Given the description of an element on the screen output the (x, y) to click on. 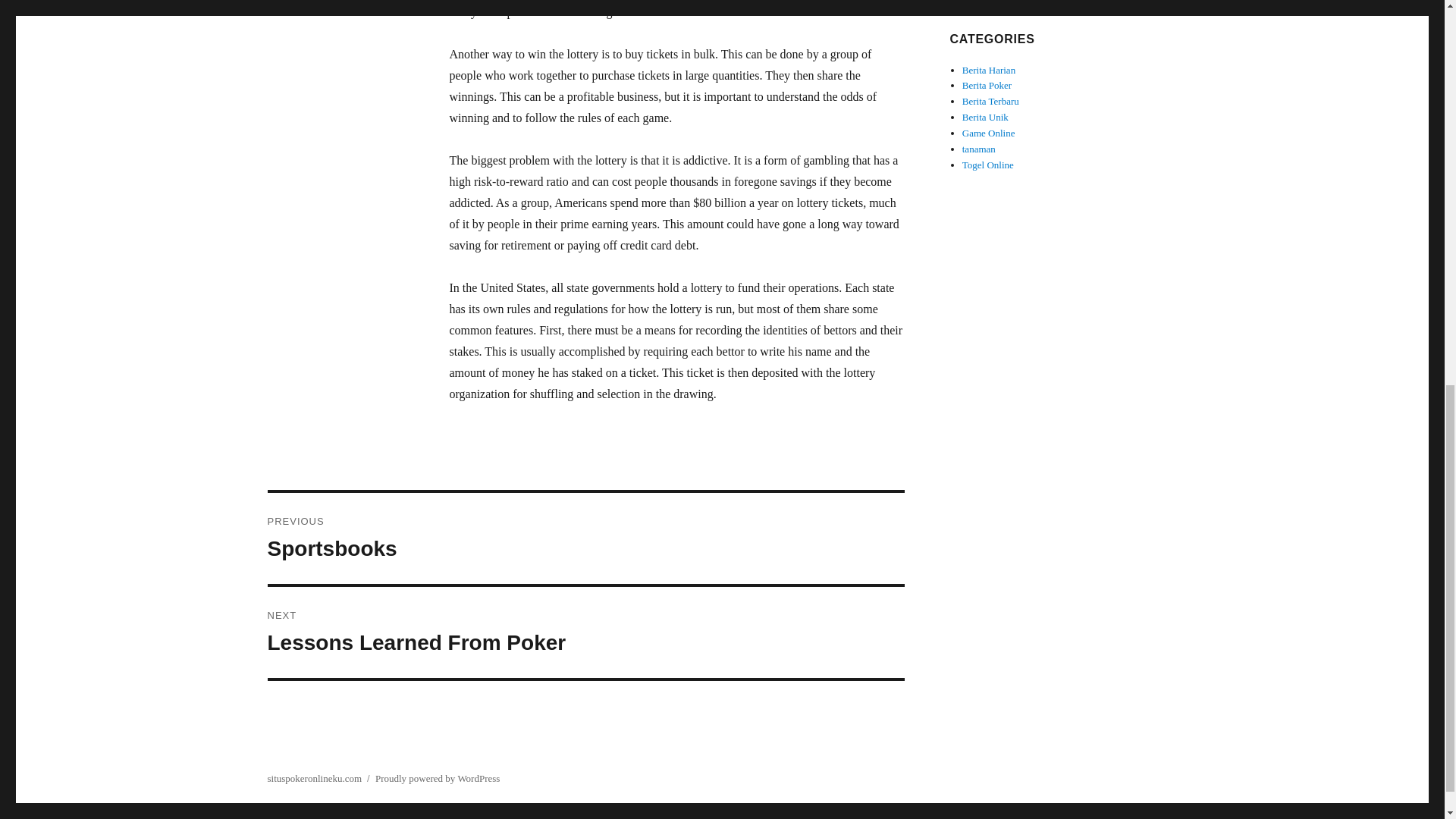
Berita Unik (985, 116)
Proudly powered by WordPress (437, 778)
Berita Poker (986, 84)
tanaman (978, 148)
Berita Terbaru (585, 538)
Berita Terbaru (990, 101)
Togel Online (990, 101)
Berita Harian (987, 164)
Game Online (988, 69)
situspokeronlineku.com (988, 132)
Berita Harian (313, 778)
